Given the description of an element on the screen output the (x, y) to click on. 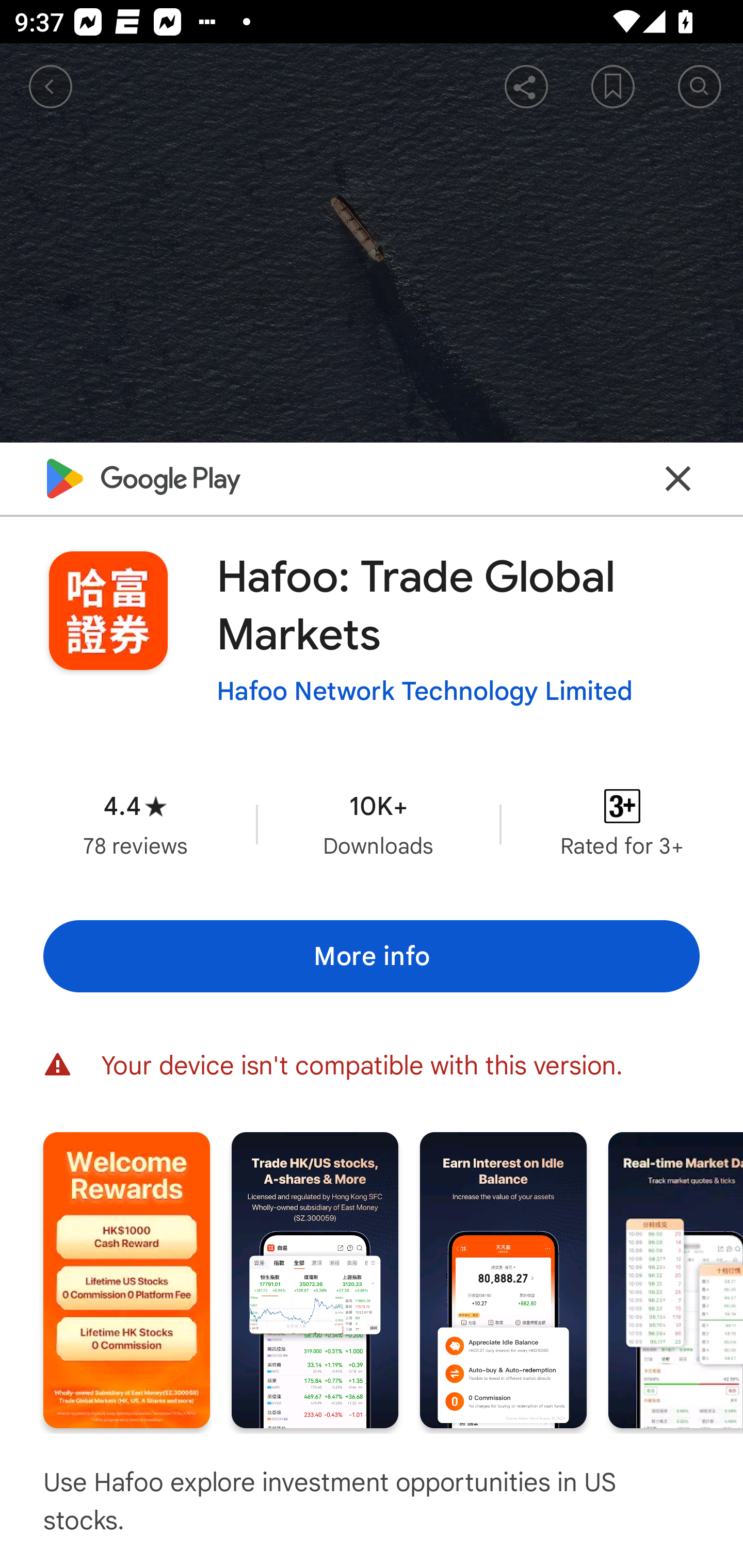
Close (677, 478)
Hafoo Network Technology Limited (424, 690)
More info (371, 956)
Screenshot "1" of "8" (126, 1280)
Screenshot "2" of "8" (314, 1280)
Screenshot "3" of "8" (502, 1280)
Screenshot "4" of "8" (675, 1280)
